Given the description of an element on the screen output the (x, y) to click on. 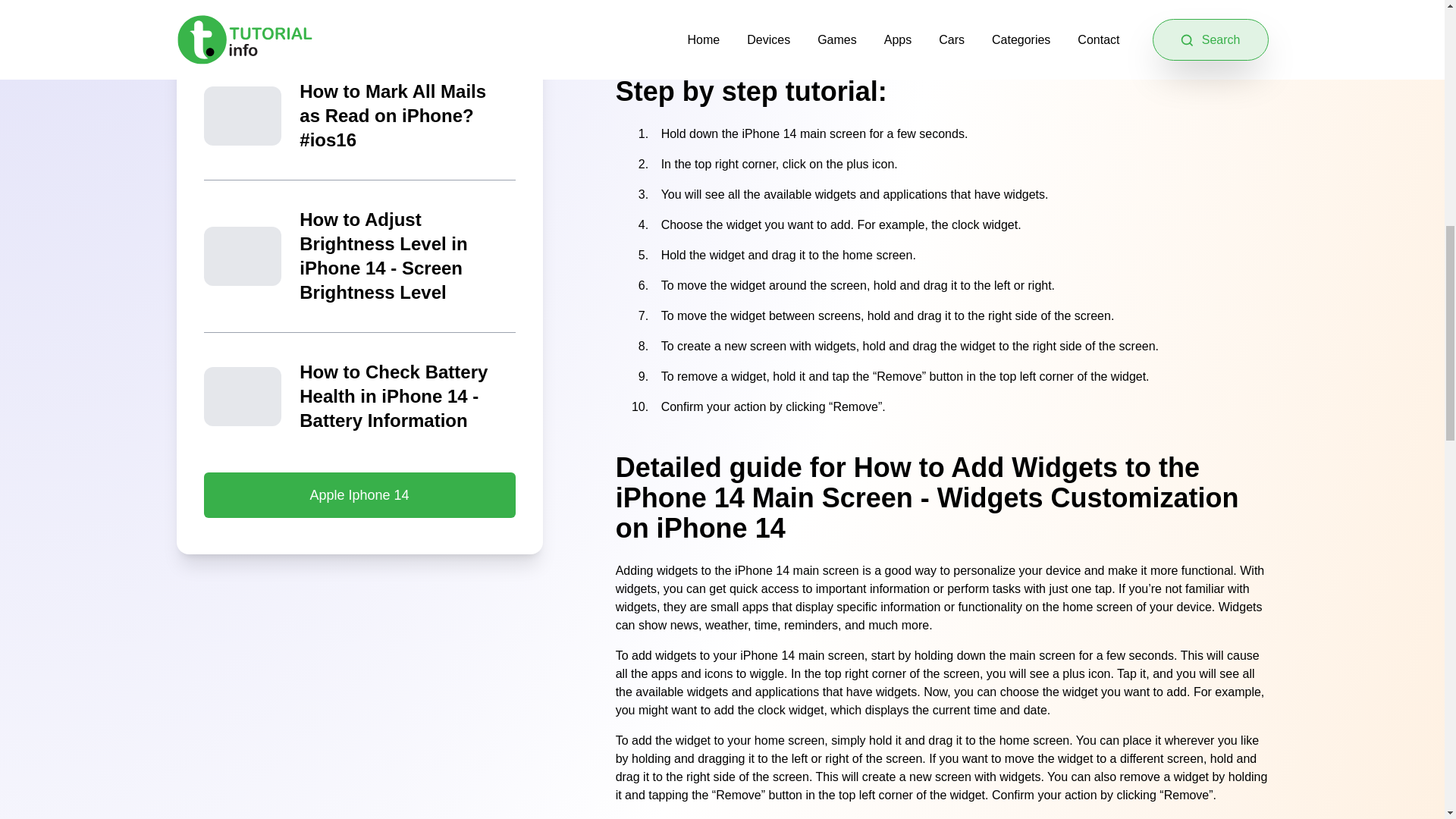
YouTube video player (941, 20)
